Given the description of an element on the screen output the (x, y) to click on. 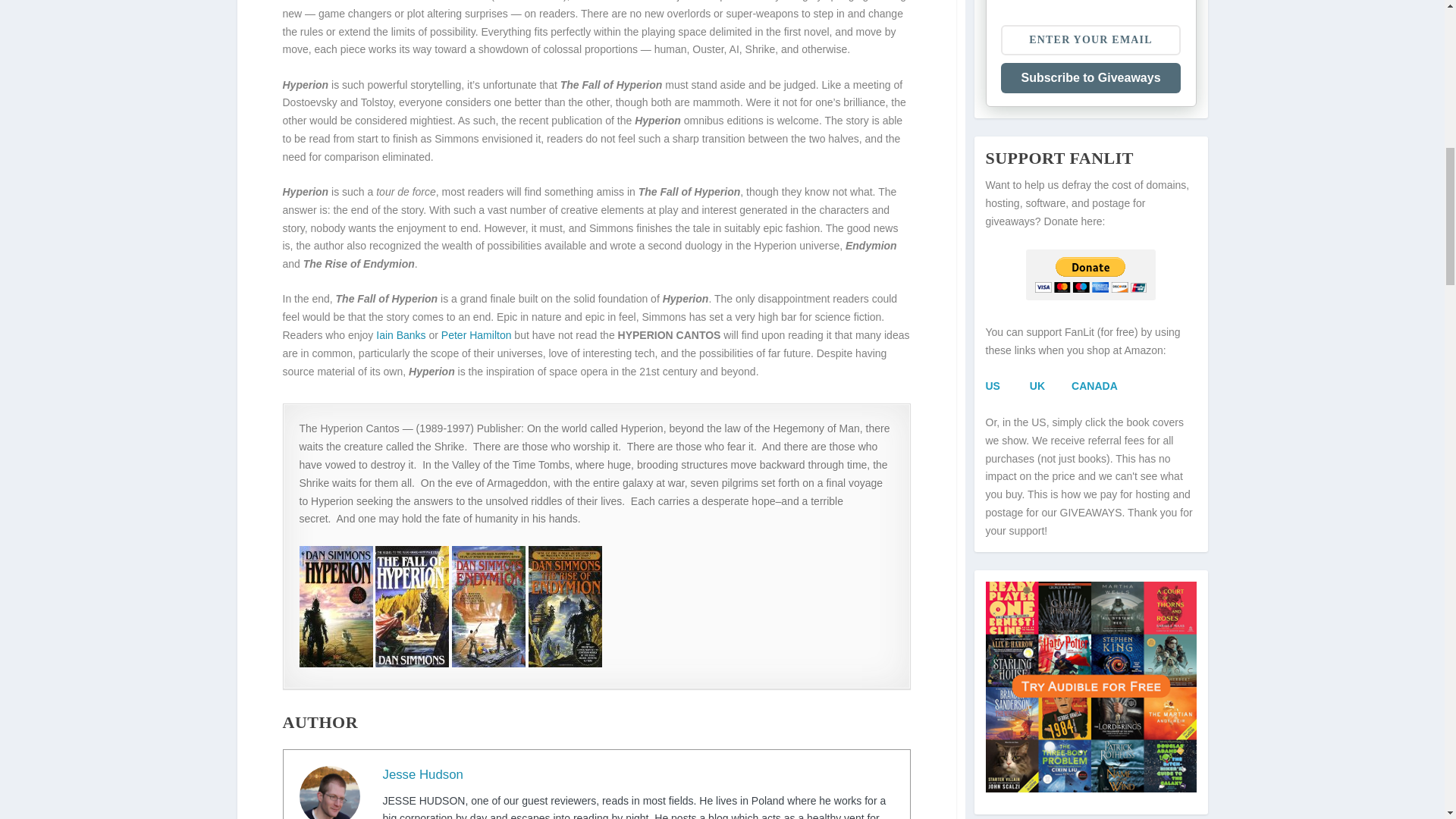
Jesse Hudson (422, 774)
